Given the description of an element on the screen output the (x, y) to click on. 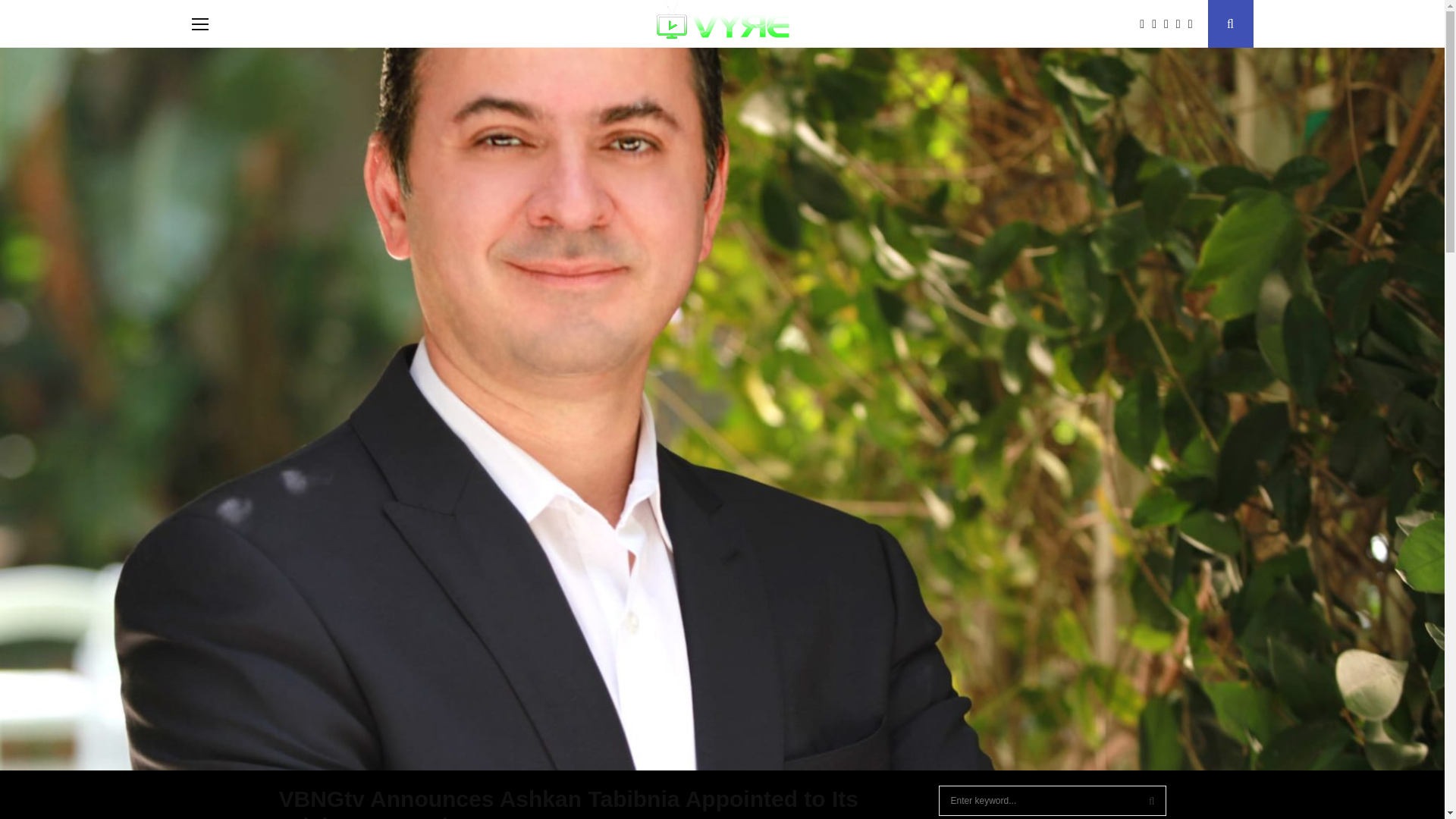
SEARCH (1151, 800)
